Given the description of an element on the screen output the (x, y) to click on. 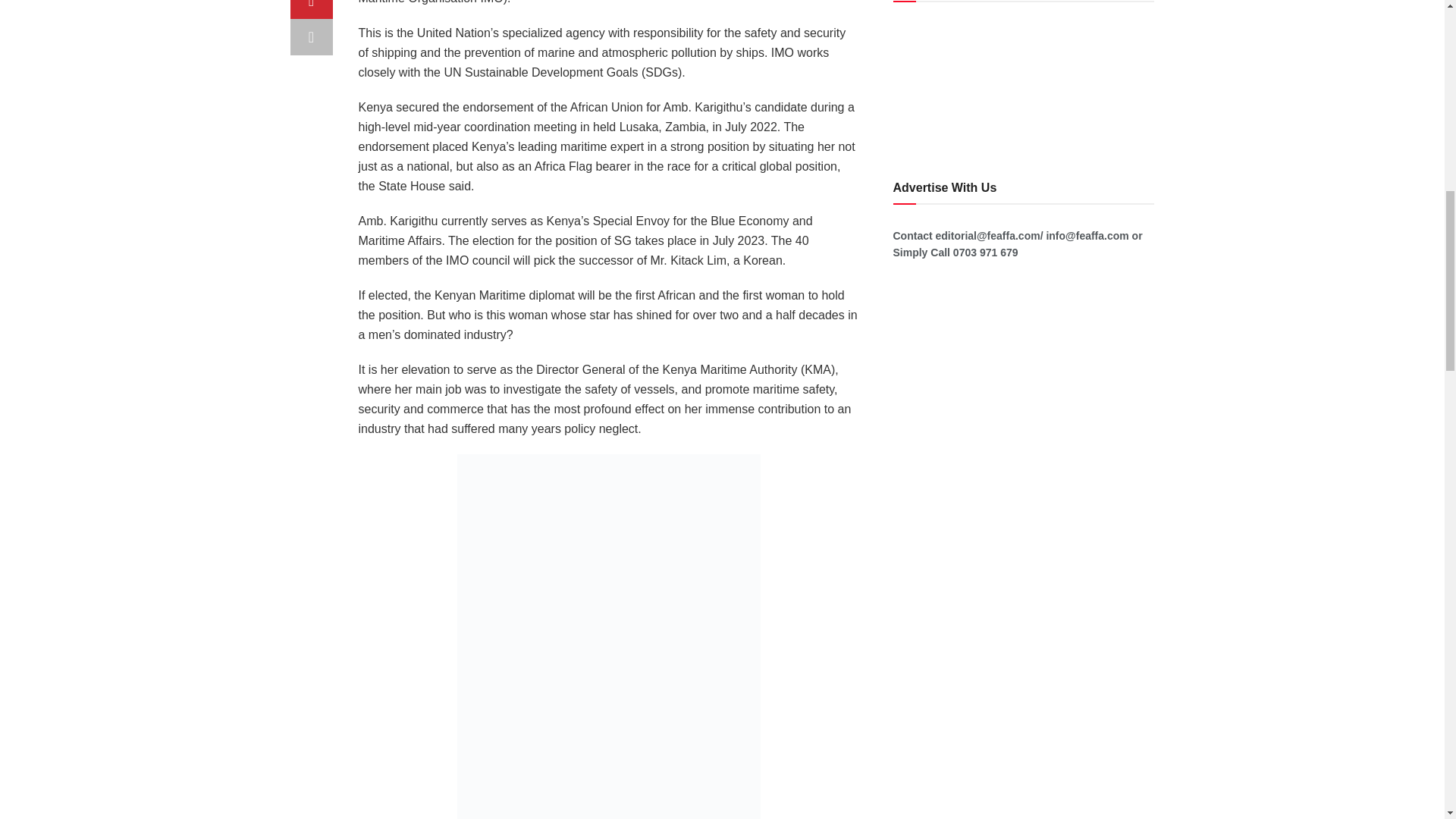
YouTube video player (1007, 81)
